Given the description of an element on the screen output the (x, y) to click on. 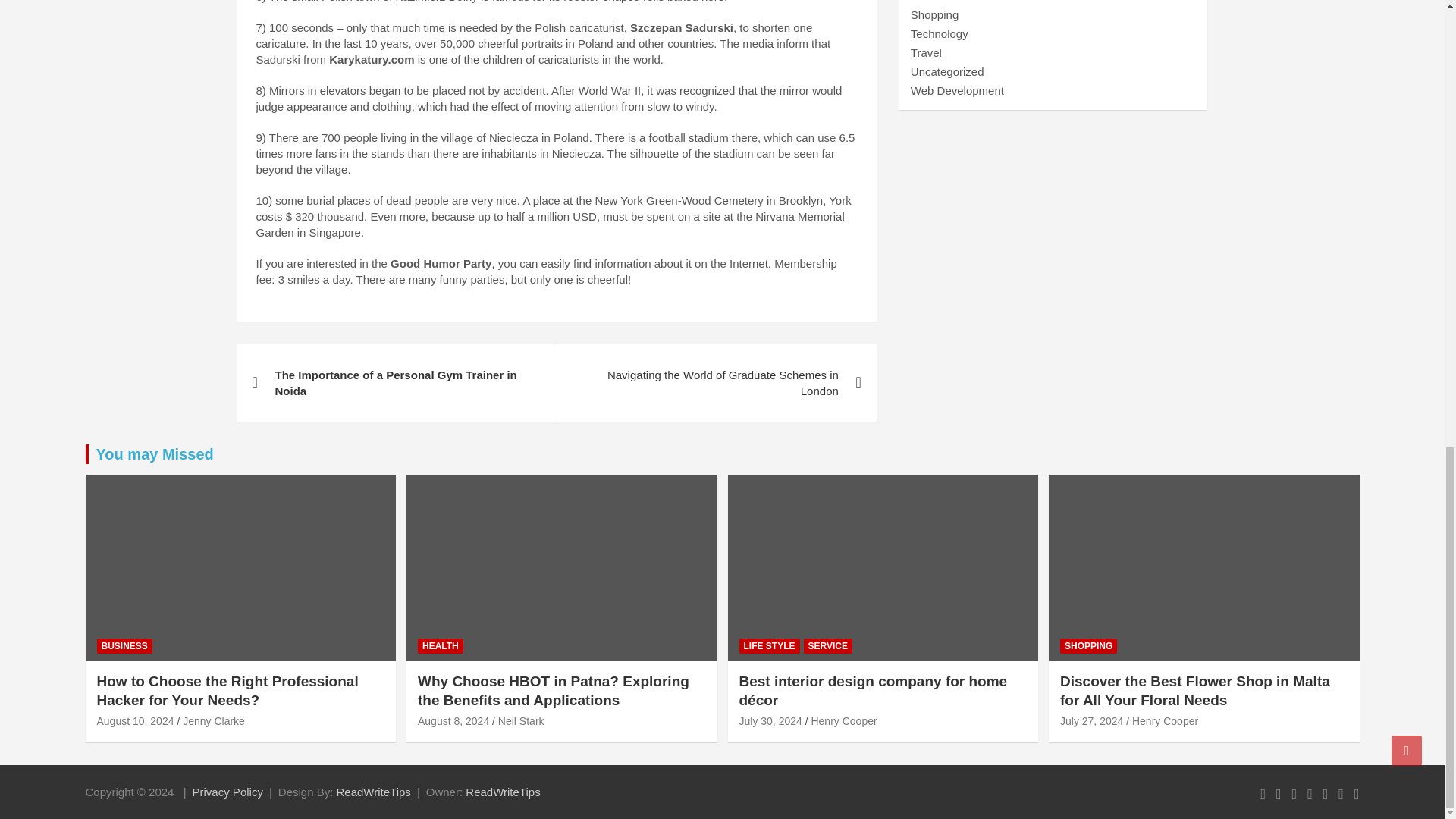
How to Choose the Right Professional Hacker for Your Needs? (135, 720)
ReadWriteTips (373, 791)
ReadWriteTips (502, 791)
